Given the description of an element on the screen output the (x, y) to click on. 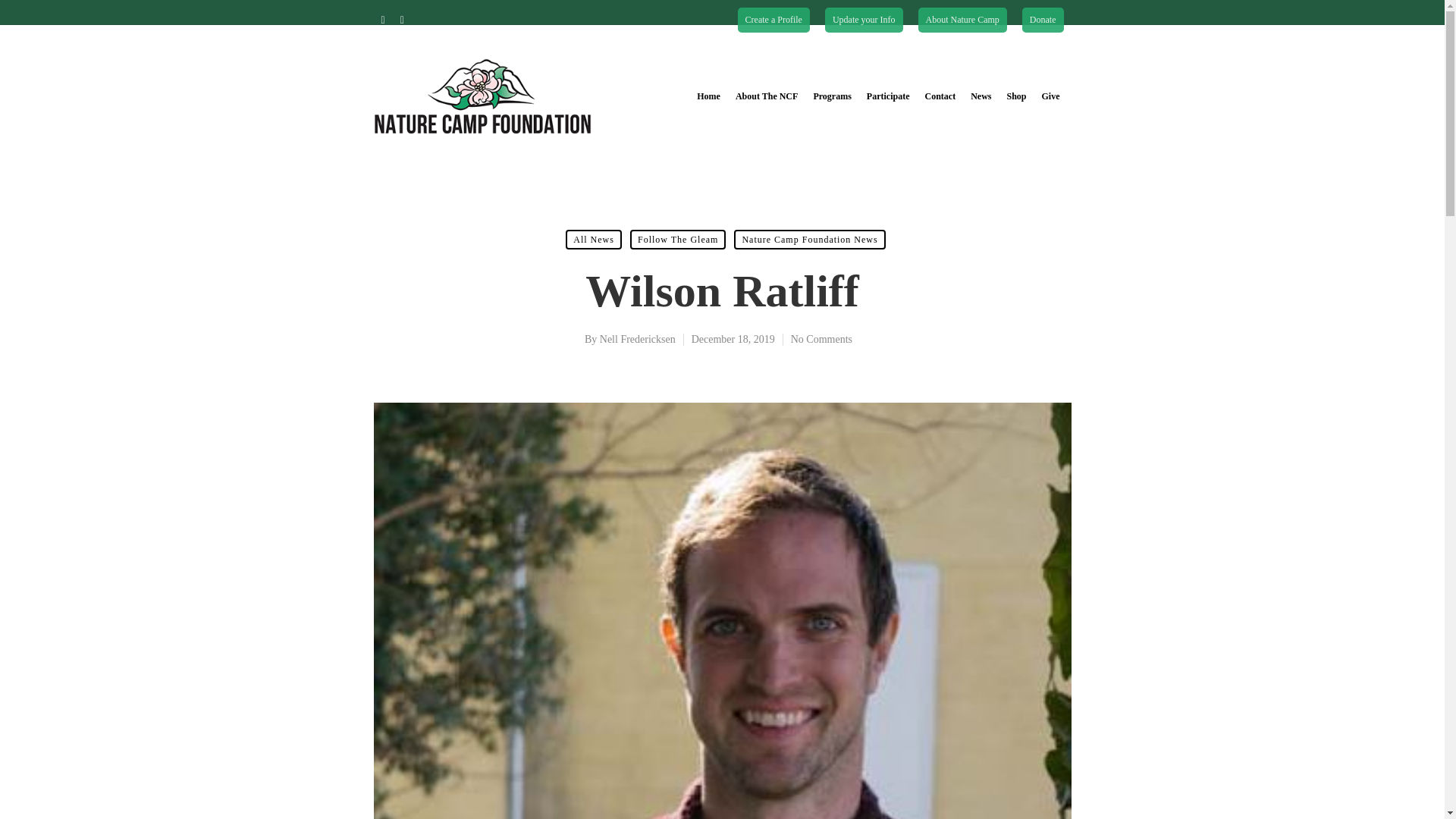
About Nature Camp (962, 19)
Nature Camp Foundation News (809, 239)
Follow The Gleam (677, 239)
No Comments (820, 338)
Donate (1043, 19)
Posts by Nell Fredericksen (637, 338)
Update your Info (863, 19)
Create a Profile (773, 19)
All News (593, 239)
Nell Fredericksen (637, 338)
